Given the description of an element on the screen output the (x, y) to click on. 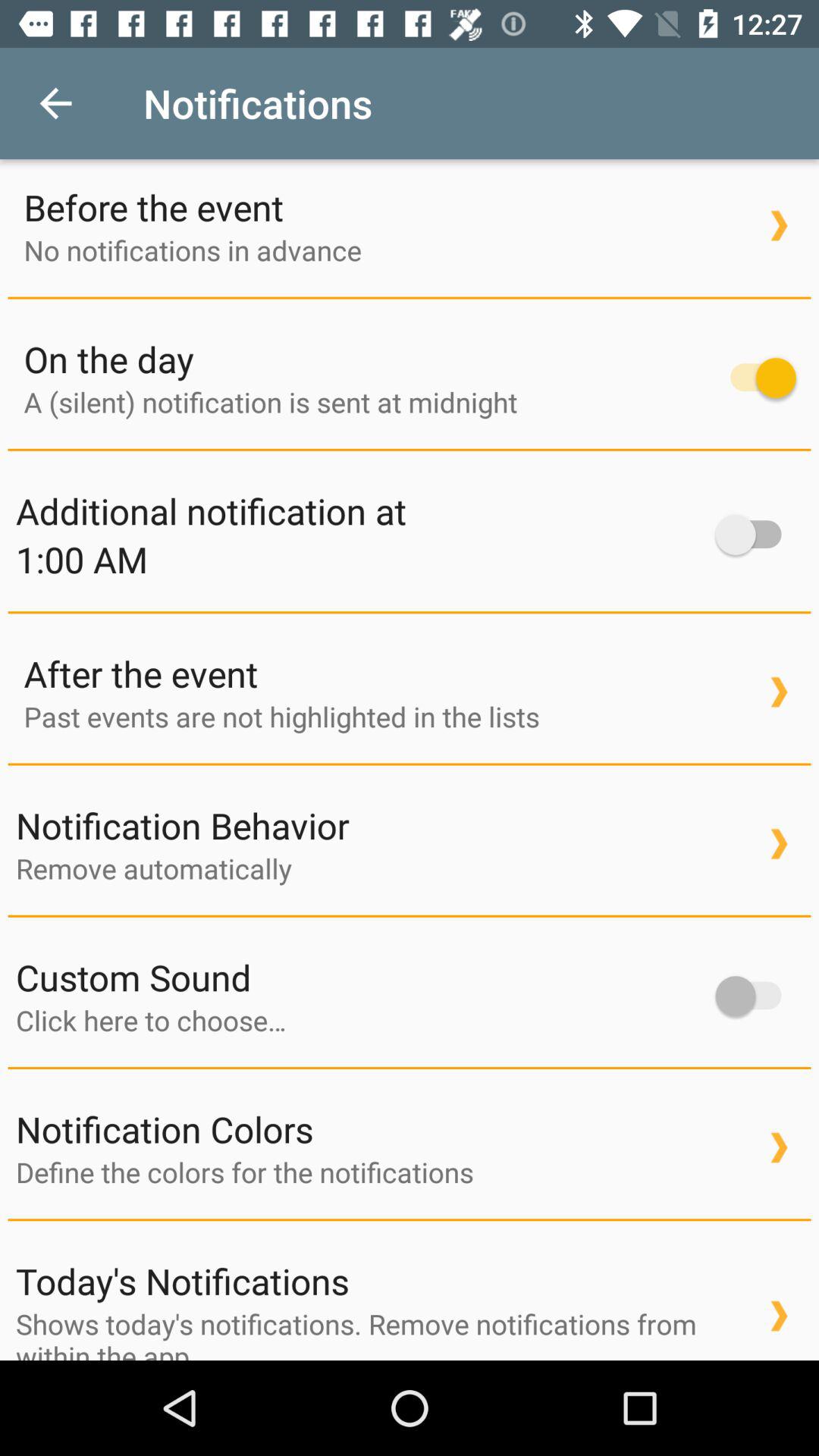
press item to the right of the custom sound (755, 996)
